Given the description of an element on the screen output the (x, y) to click on. 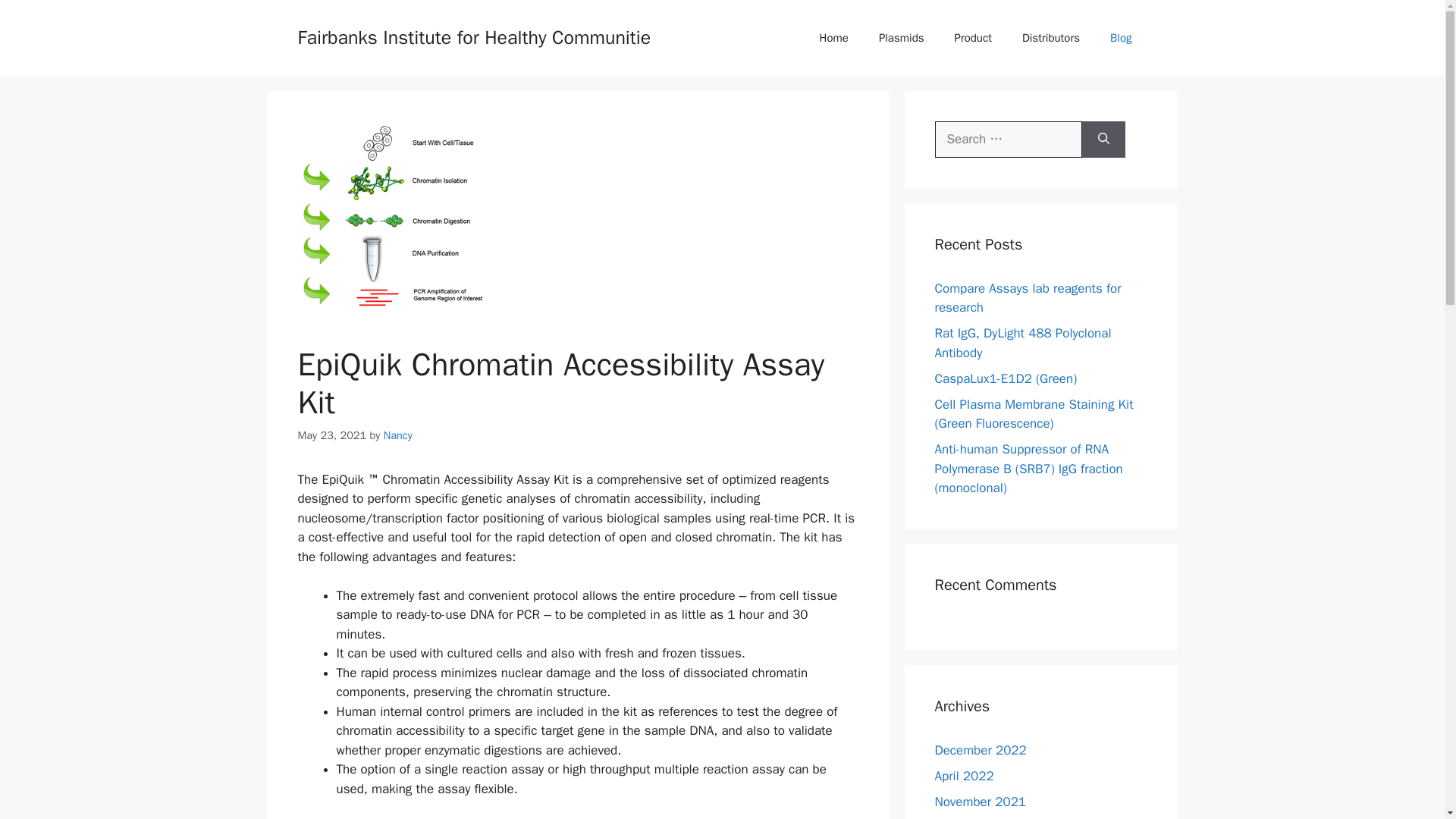
Search for: (1007, 139)
Nancy (398, 435)
Home (834, 37)
Plasmids (901, 37)
April 2022 (963, 774)
Distributors (1050, 37)
Rat IgG, DyLight 488 Polyclonal Antibody (1022, 343)
Fairbanks Institute for Healthy Communitie (473, 37)
December 2022 (980, 749)
November 2021 (980, 801)
